Given the description of an element on the screen output the (x, y) to click on. 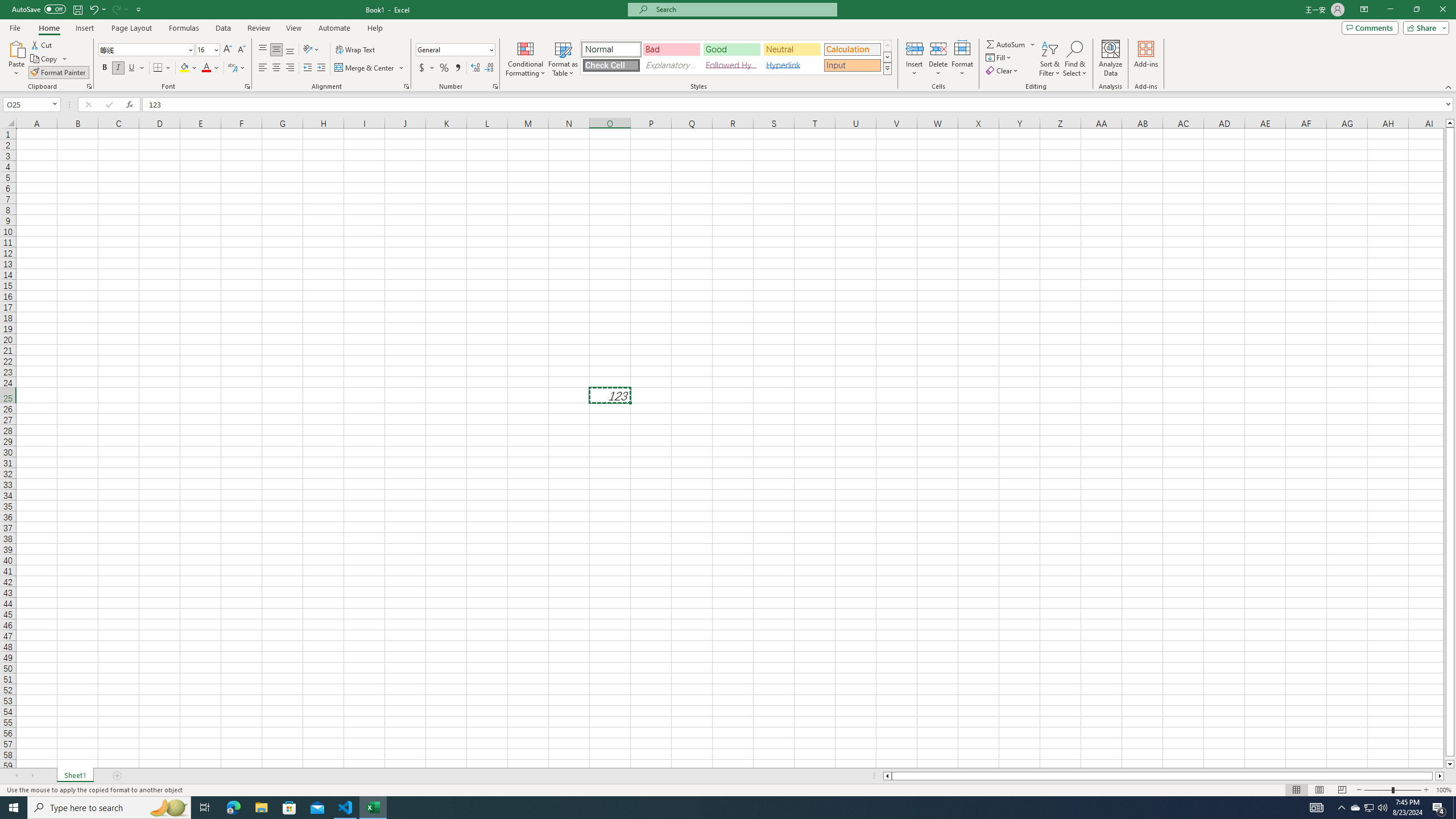
Delete Cells... (938, 48)
System (6, 6)
Bad (671, 49)
More Options (1033, 44)
Redo (115, 9)
Middle Align (276, 49)
Page Layout (131, 28)
Borders (162, 67)
Zoom In (1426, 790)
AutoSave (38, 9)
Comma Style (457, 67)
Decrease Font Size (240, 49)
AutoSum (1011, 44)
Scroll Right (32, 775)
Office Clipboard... (88, 85)
